Given the description of an element on the screen output the (x, y) to click on. 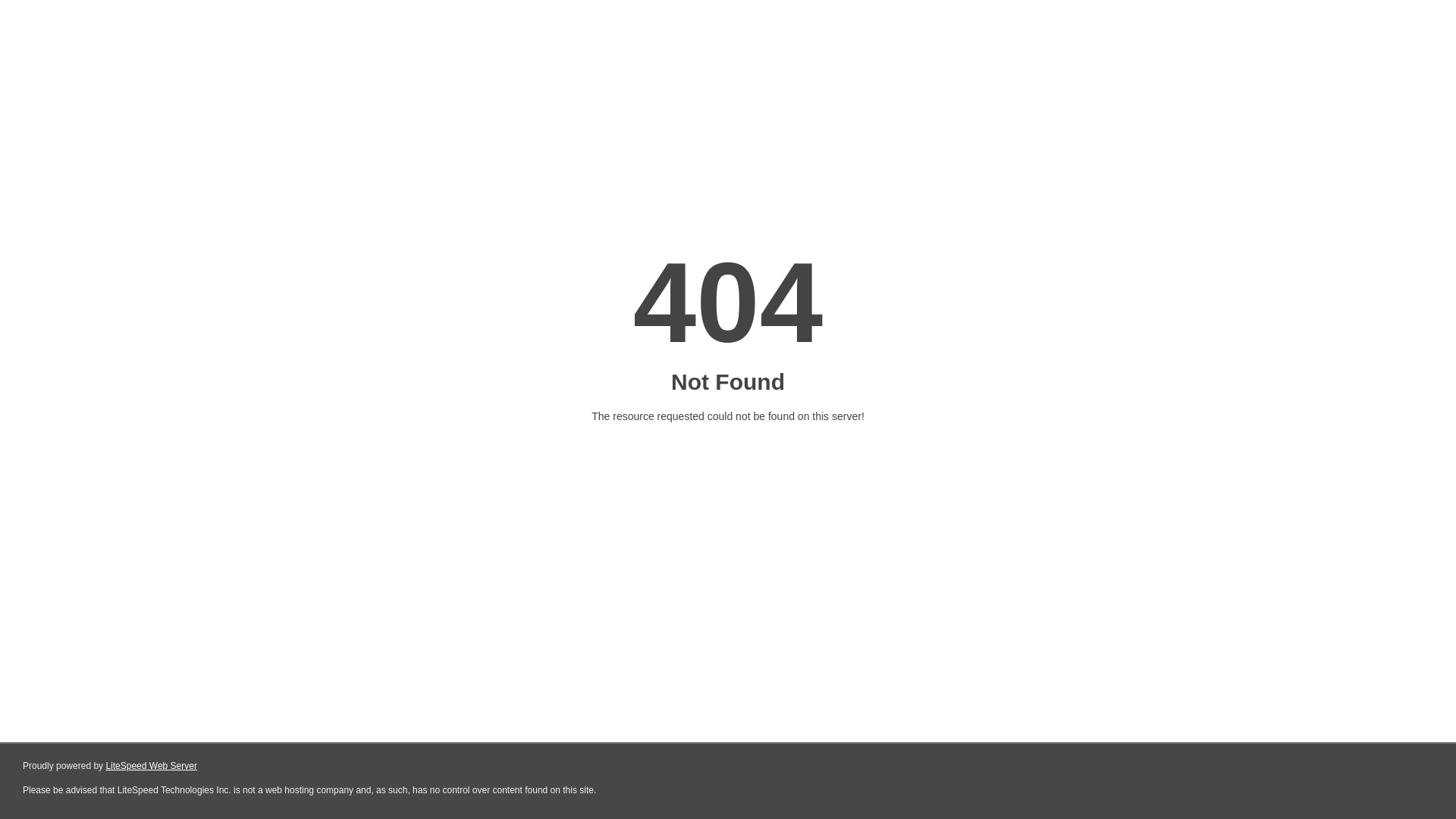
LiteSpeed Web Server Element type: text (151, 765)
